Given the description of an element on the screen output the (x, y) to click on. 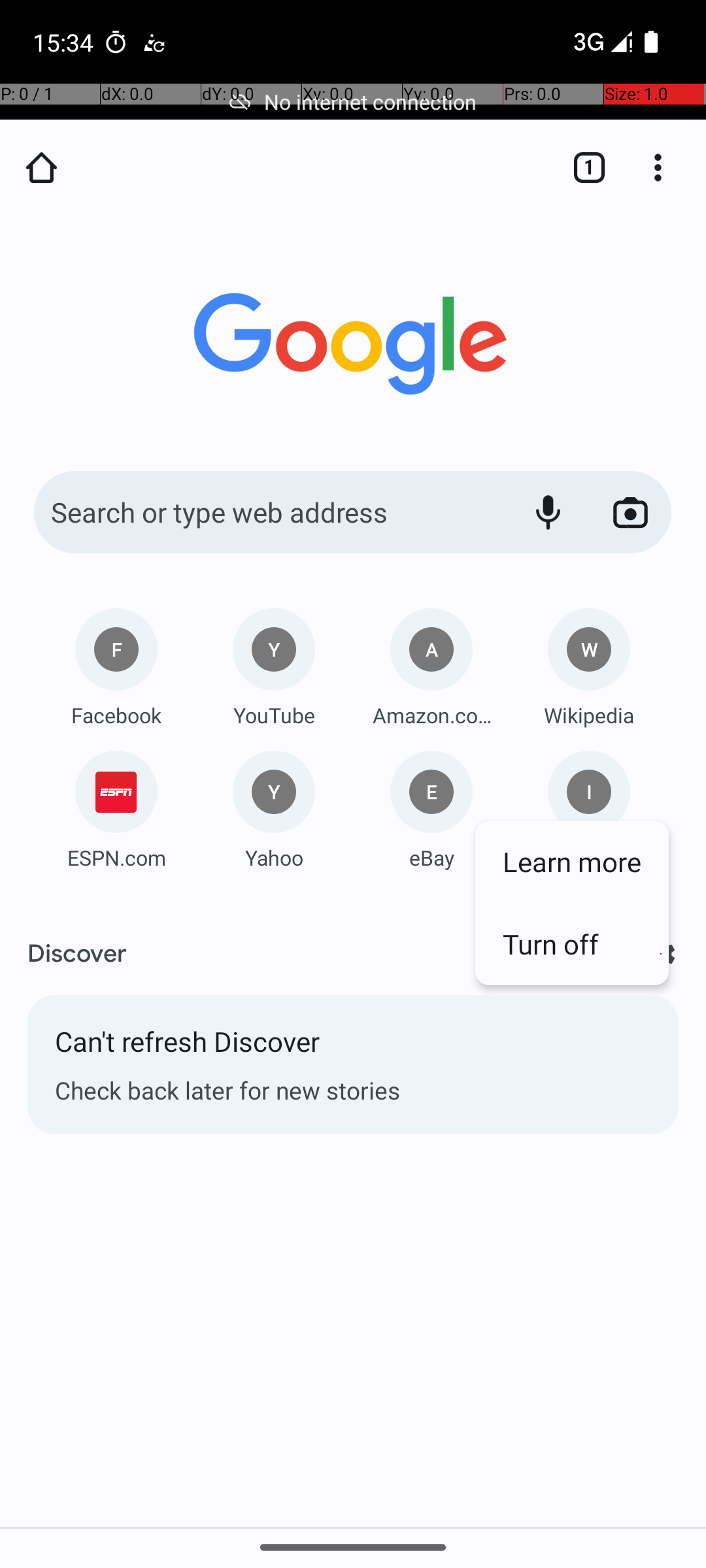
Turn off Element type: android.widget.TextView (571, 943)
